Given the description of an element on the screen output the (x, y) to click on. 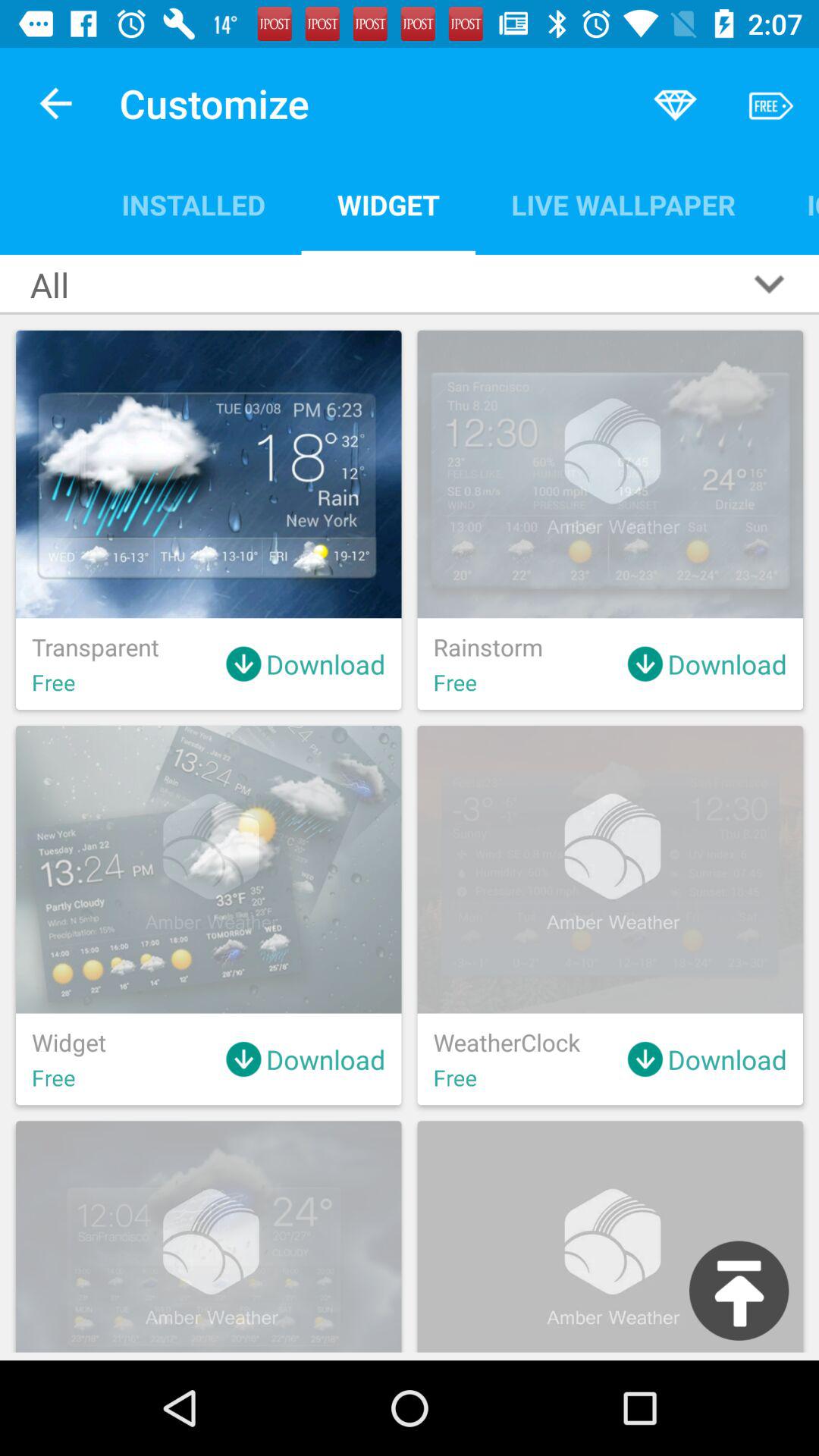
launch app to the left of customize item (55, 103)
